Given the description of an element on the screen output the (x, y) to click on. 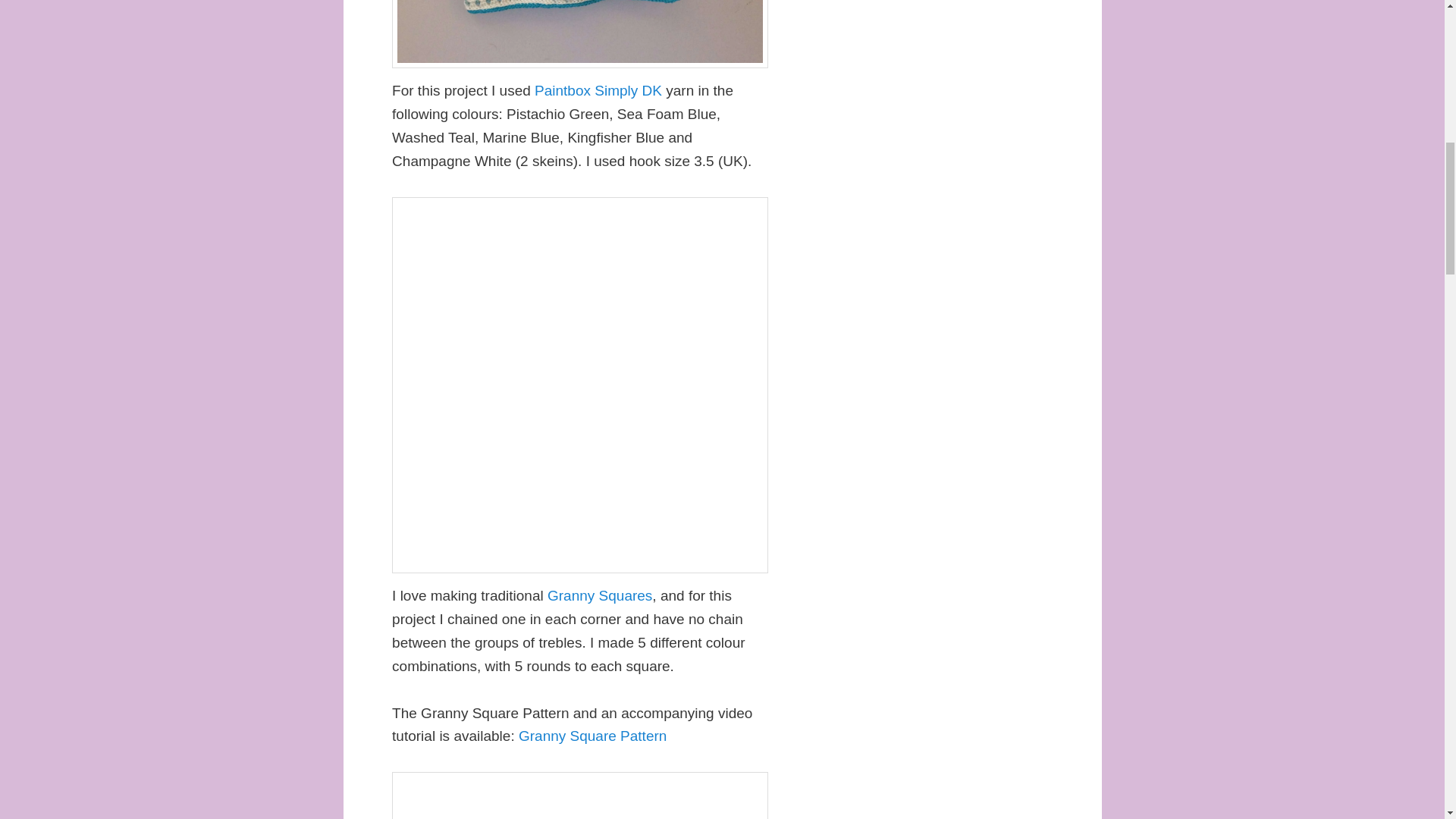
Granny Squares (599, 595)
Paintbox Simply DK (598, 90)
Granny Square Pattern (592, 735)
